Given the description of an element on the screen output the (x, y) to click on. 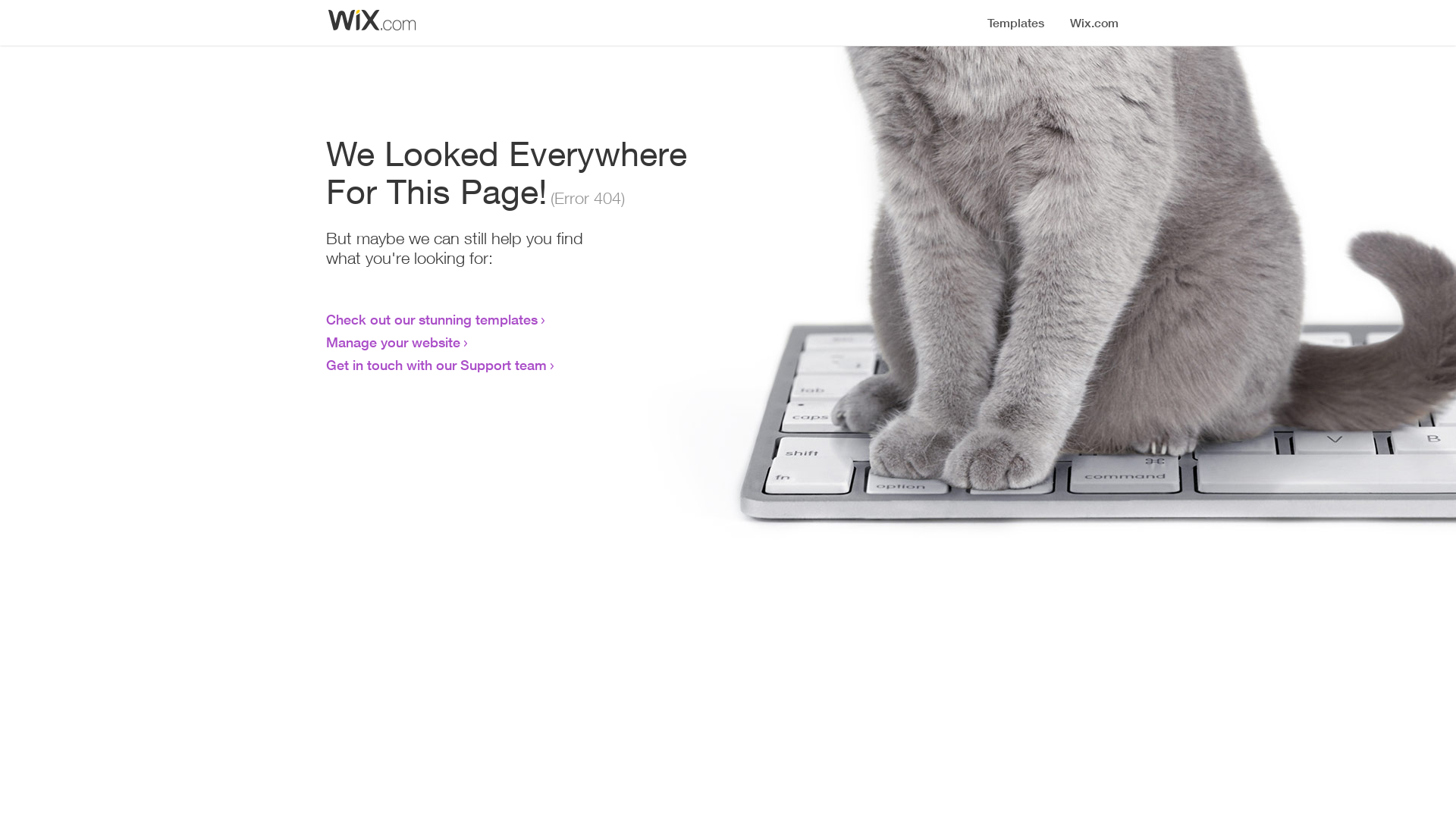
Manage your website Element type: text (393, 341)
Check out our stunning templates Element type: text (431, 318)
Get in touch with our Support team Element type: text (436, 364)
